Given the description of an element on the screen output the (x, y) to click on. 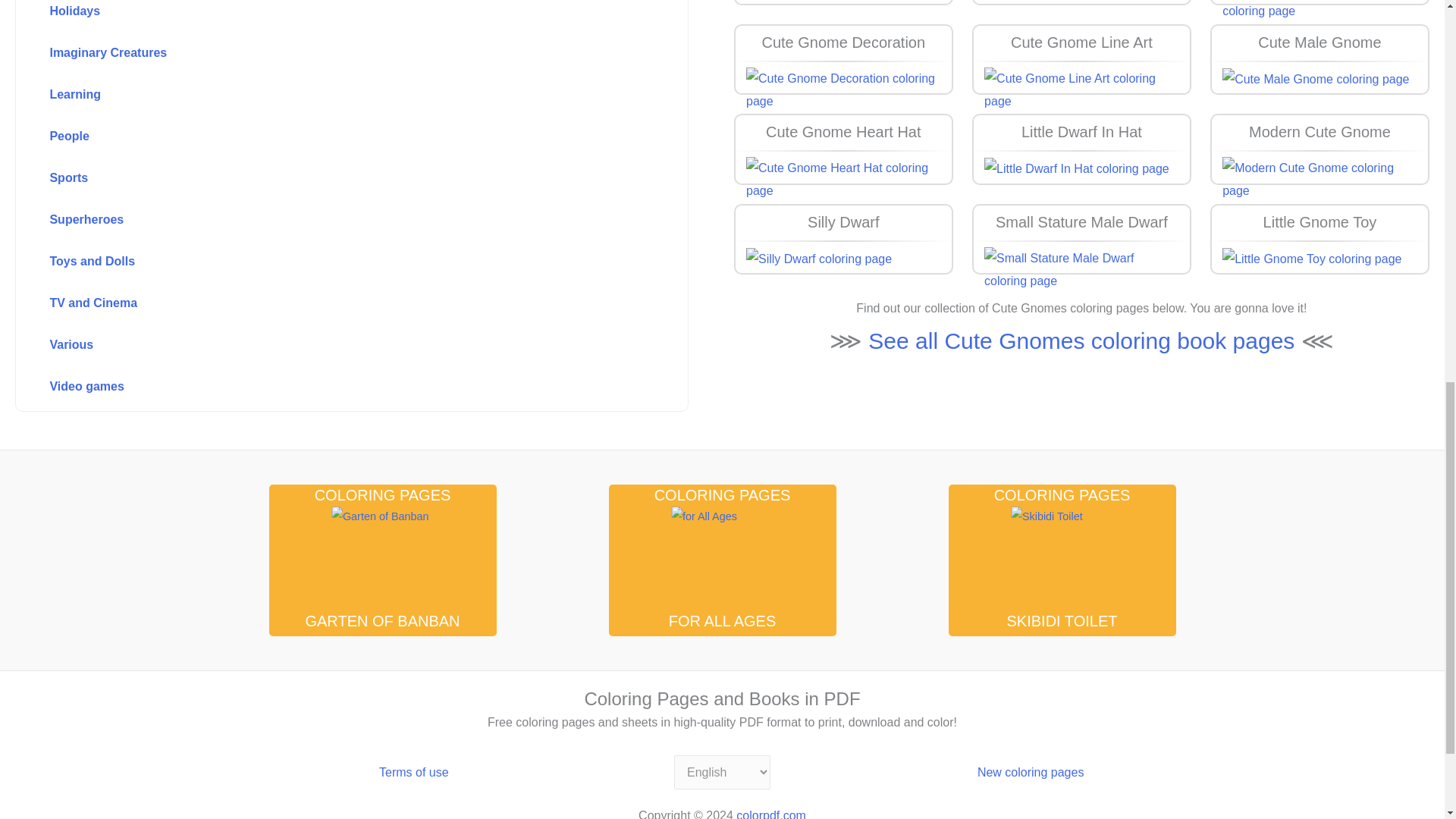
Sports coloring pages (318, 178)
Toys and Dolls coloring pages (318, 262)
TV and Cinema coloring pages (318, 304)
Superheroes (318, 220)
Learning (318, 95)
Superheroes coloring pages (318, 220)
Holidays coloring pages (318, 13)
Learning coloring pages (318, 95)
Holidays (318, 13)
Various (318, 345)
